Given the description of an element on the screen output the (x, y) to click on. 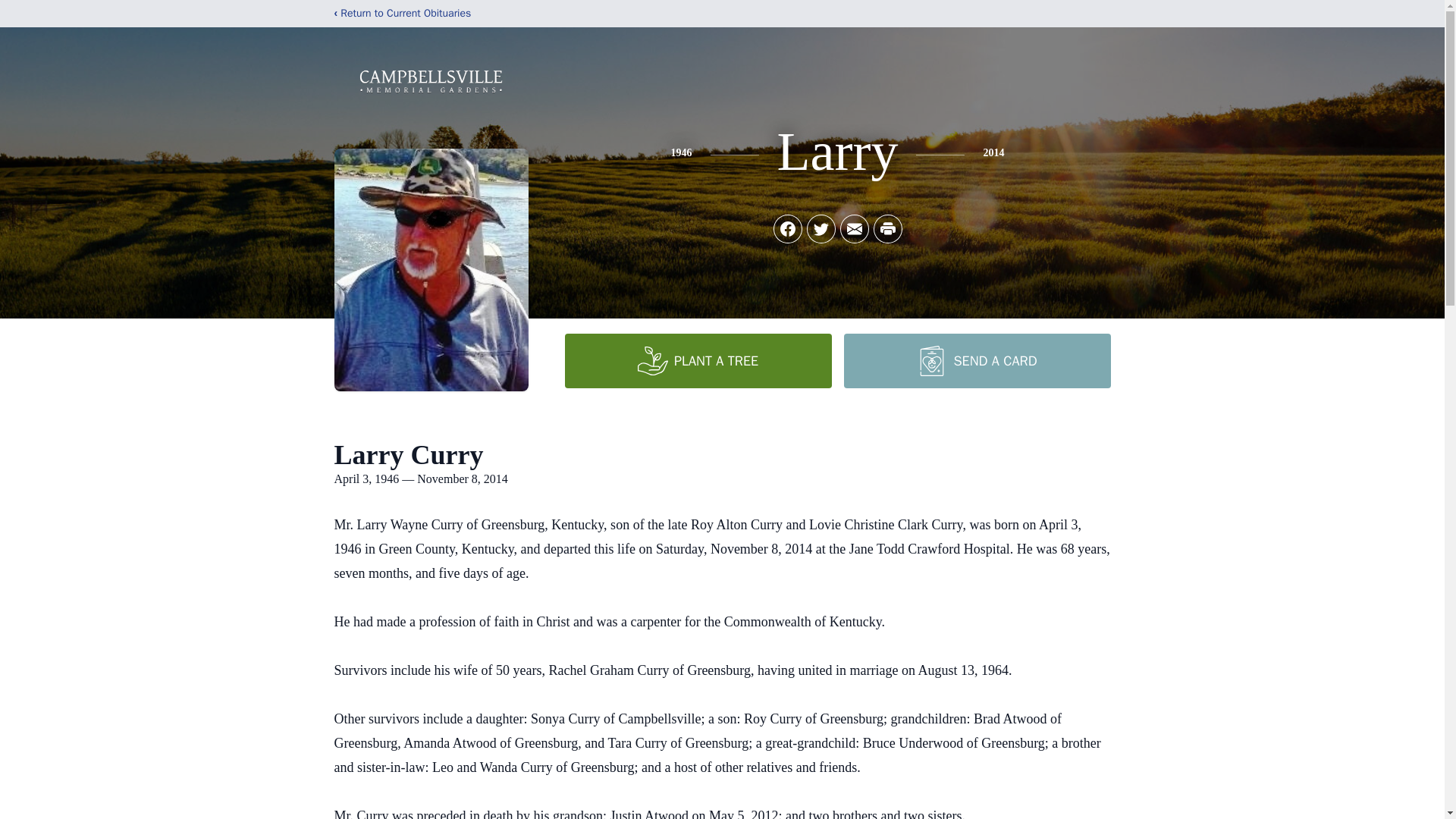
SEND A CARD (976, 360)
PLANT A TREE (697, 360)
